Given the description of an element on the screen output the (x, y) to click on. 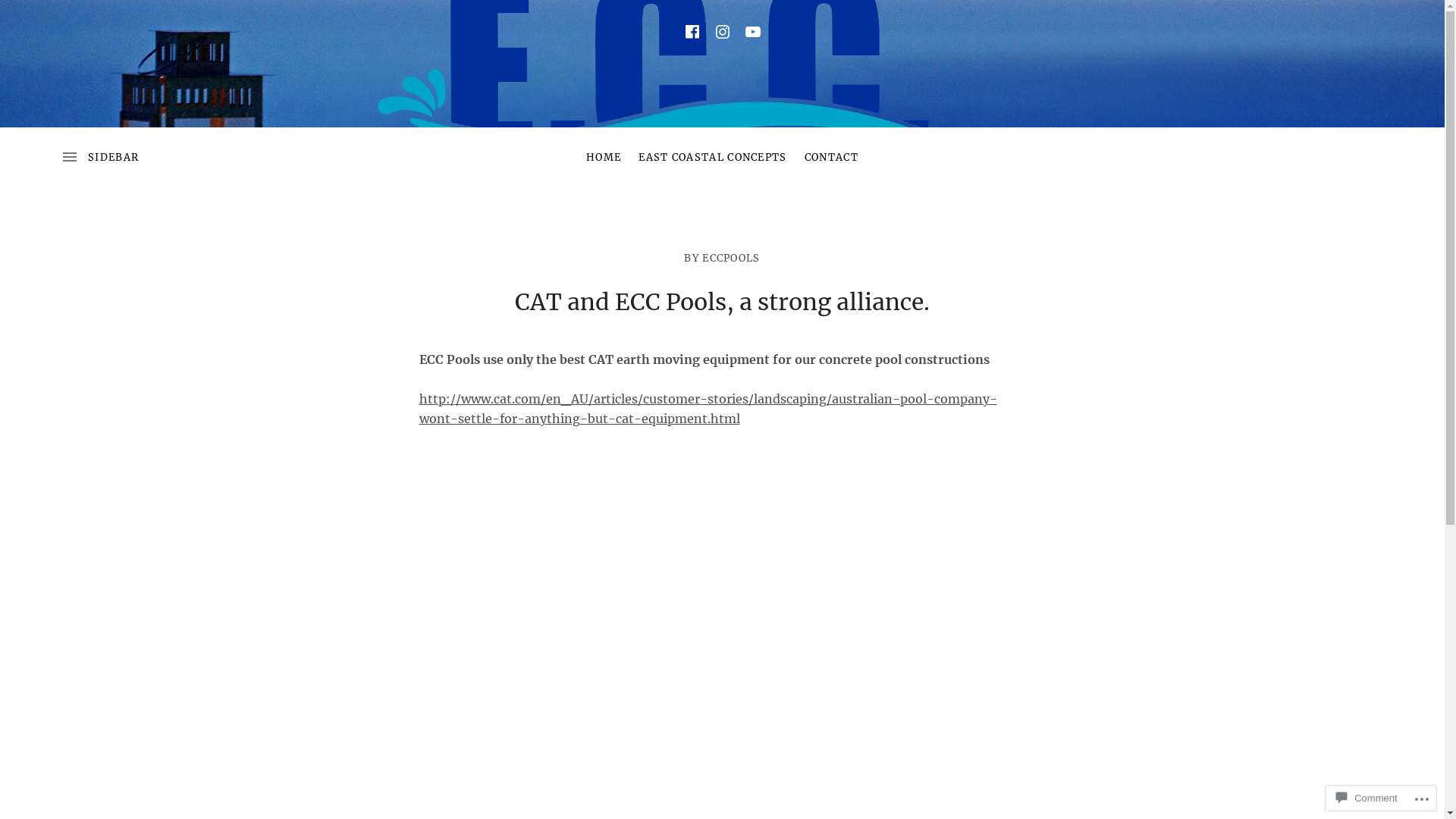
CONTACT Element type: text (831, 157)
EAST COASTAL CONCEPTS Element type: text (711, 157)
Search Element type: text (42, 18)
Comment Element type: text (1366, 797)
ECCPOOLS Element type: text (730, 257)
HOME Element type: text (603, 157)
